Given the description of an element on the screen output the (x, y) to click on. 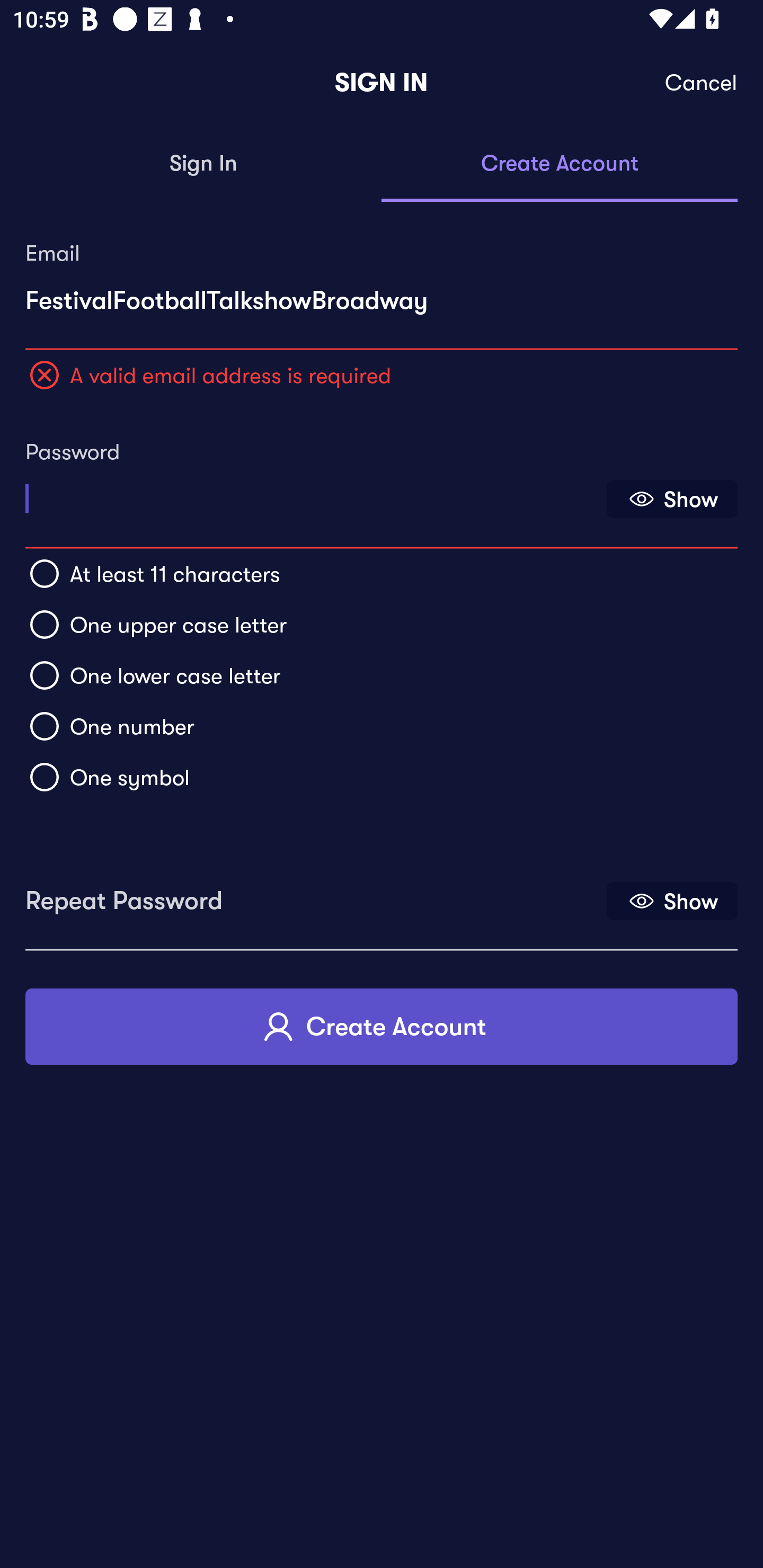
Cancel (701, 82)
Sign In (203, 164)
Create Account (559, 164)
Password, error message, At least 11 characters (314, 493)
Show Password Show (671, 498)
Repeat Password (314, 894)
Show Repeat Password Show (671, 900)
Create Account (381, 1025)
